Given the description of an element on the screen output the (x, y) to click on. 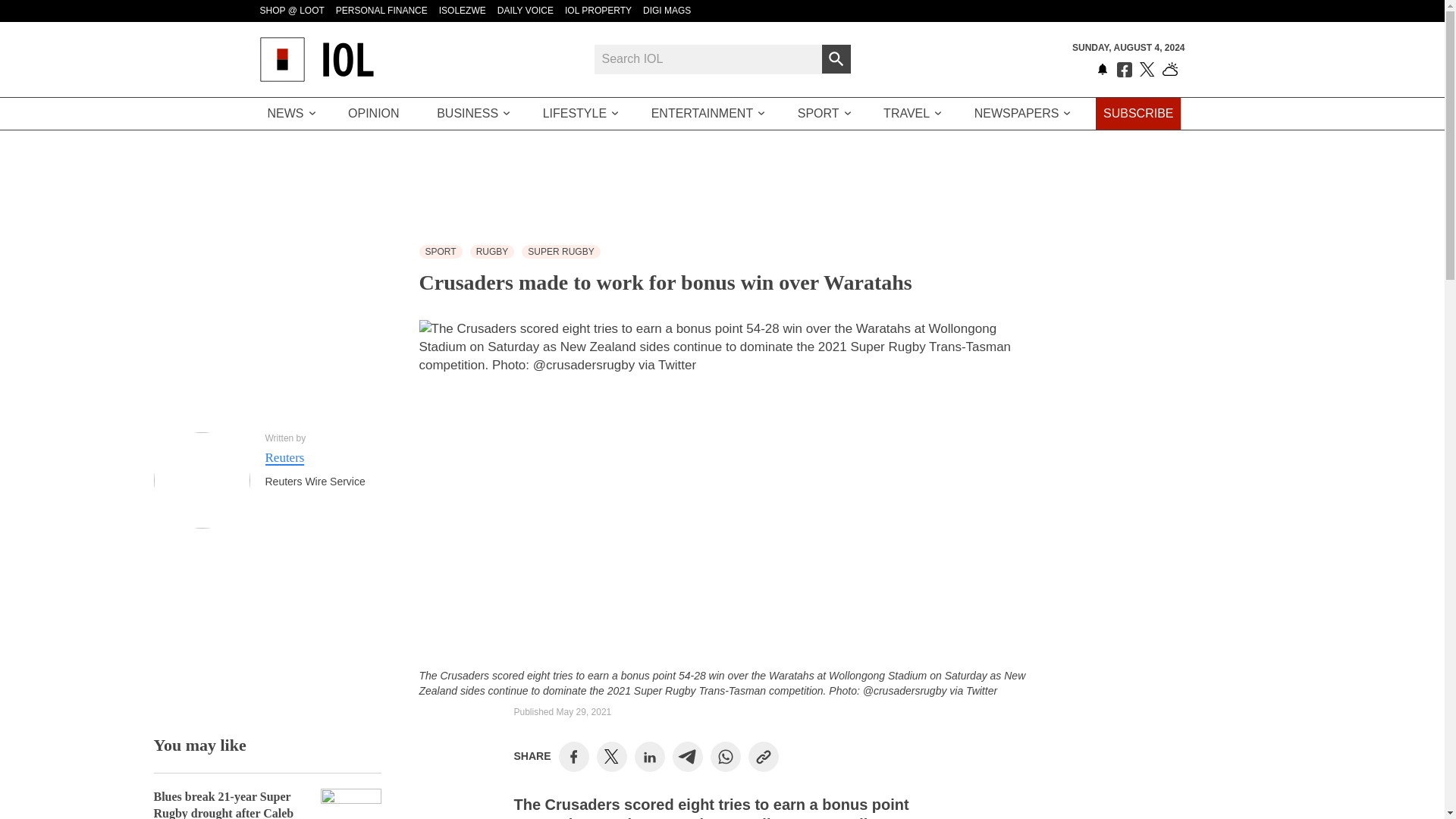
Share on Facebook (573, 756)
Share on Telegram (686, 756)
Like us on Facebook (1124, 69)
Follow us on Twitter (1147, 69)
Share on WhatsApp (725, 756)
Share on LinkedIn (648, 756)
Share on Twitter (611, 756)
Copy to Clipboard (763, 756)
